Given the description of an element on the screen output the (x, y) to click on. 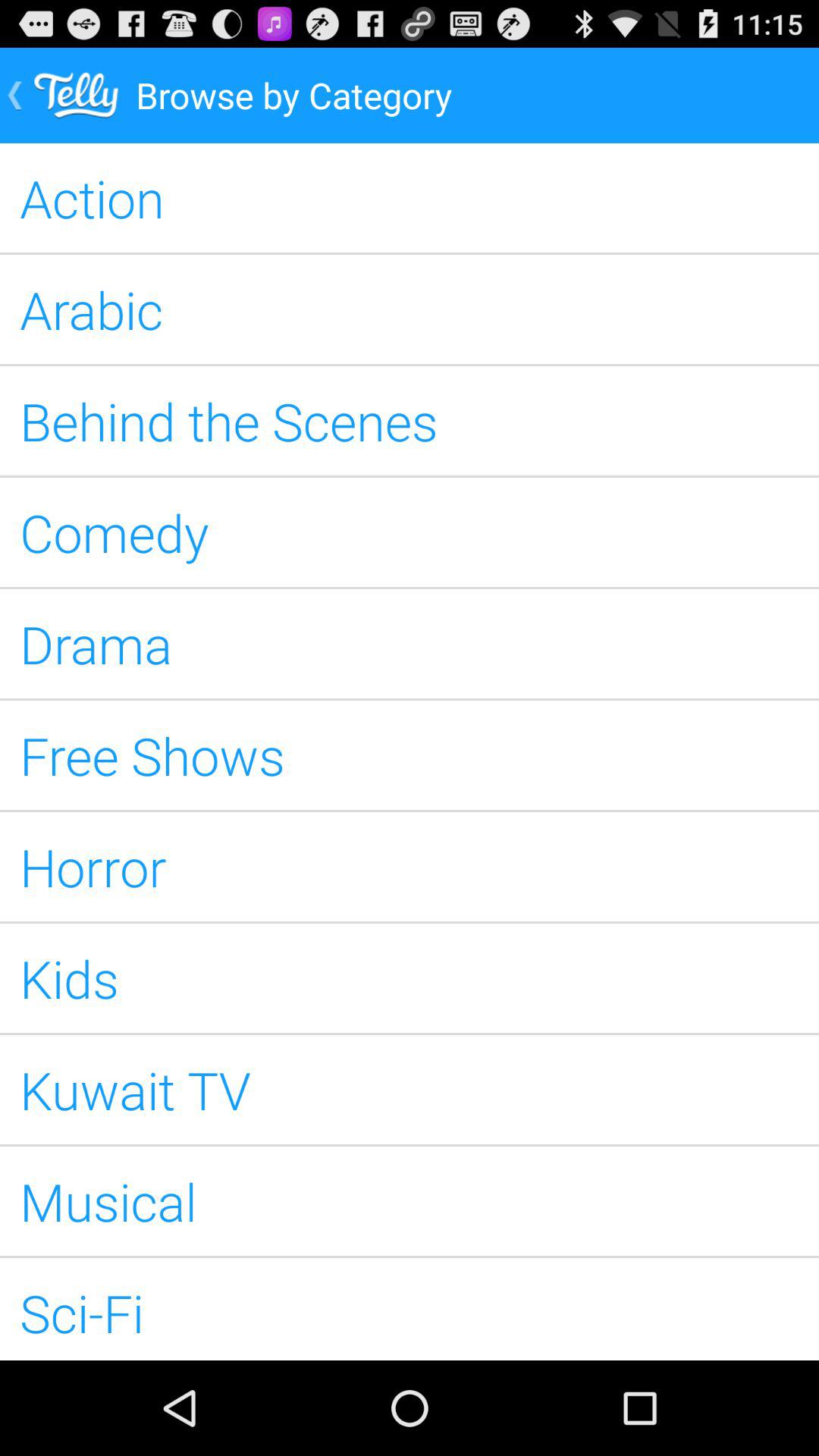
click icon below action (409, 309)
